Given the description of an element on the screen output the (x, y) to click on. 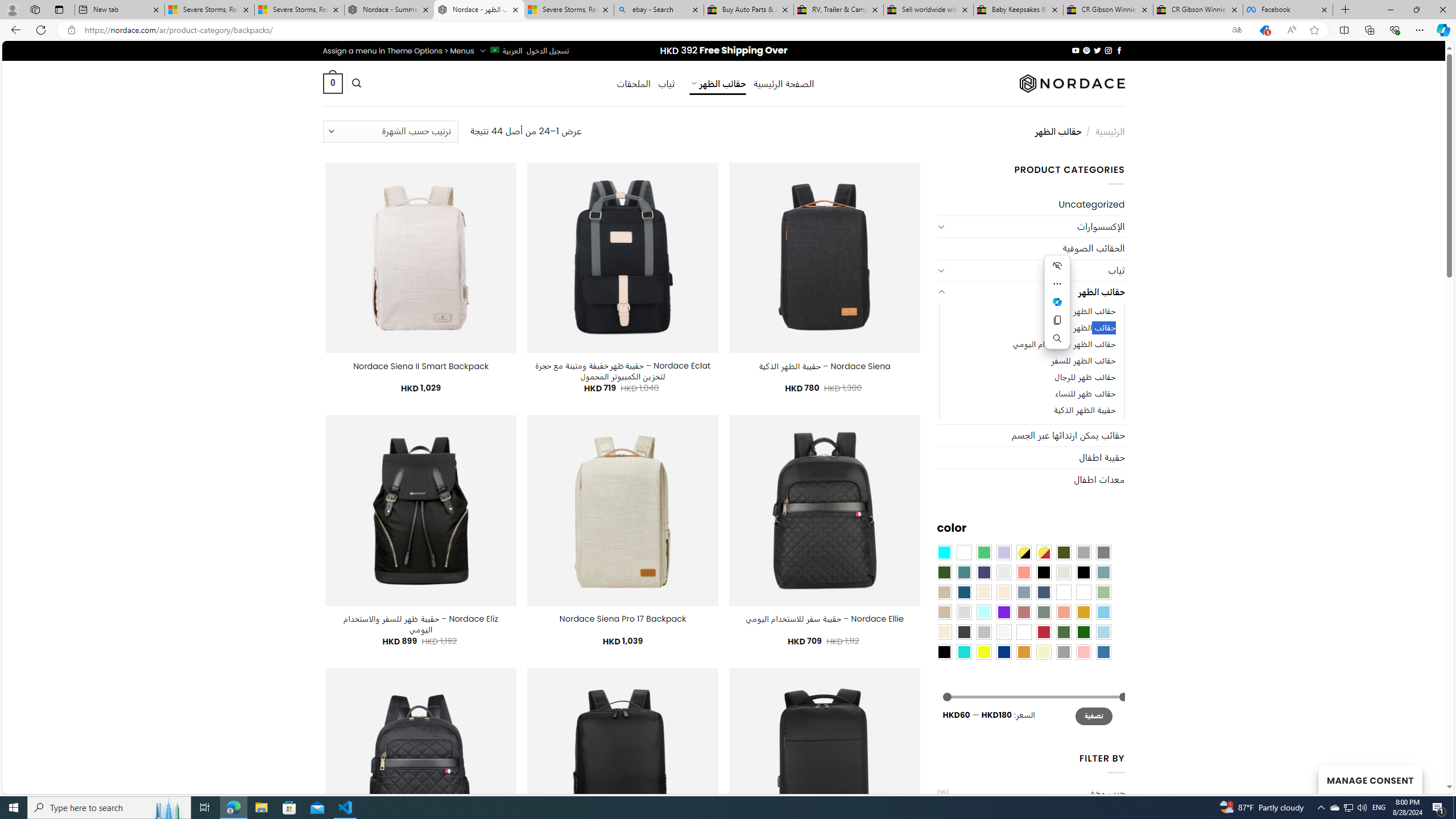
Hide menu (1057, 265)
More actions (1057, 283)
Khaki (1082, 591)
